Given the description of an element on the screen output the (x, y) to click on. 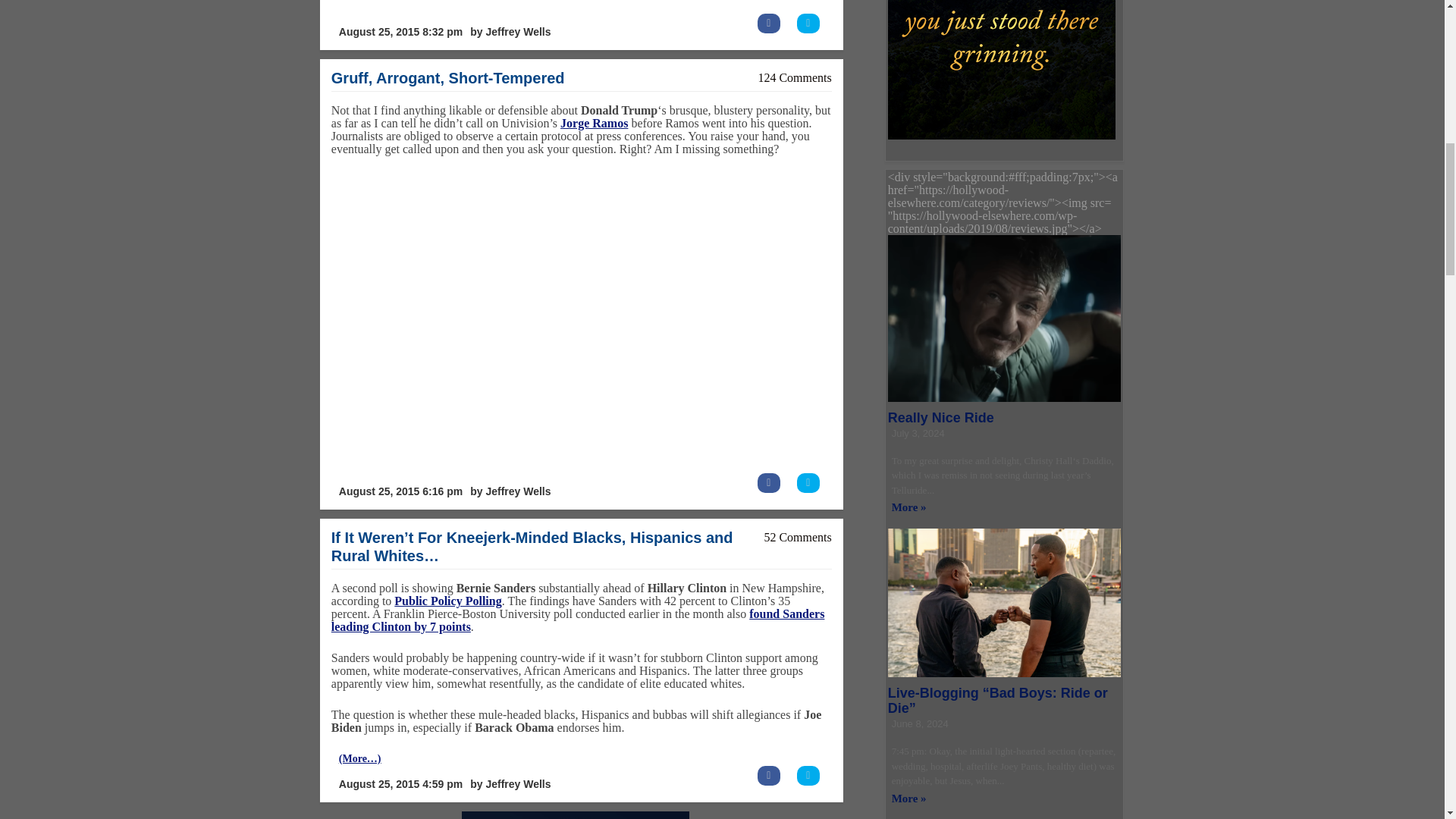
August 25, 2015 8:32 pm (399, 31)
August 25, 2015 6:16 pm (399, 491)
by Jeffrey Wells (509, 31)
Permanent Link to Gruff, Arrogant, Short-Tempered (447, 77)
Public Policy Polling (447, 600)
found Sanders leading Clinton by 7 points (578, 620)
by Jeffrey Wells (509, 491)
Gruff, Arrogant, Short-Tempered (447, 77)
Jorge Ramos (593, 123)
52 Comments (796, 536)
